Given the description of an element on the screen output the (x, y) to click on. 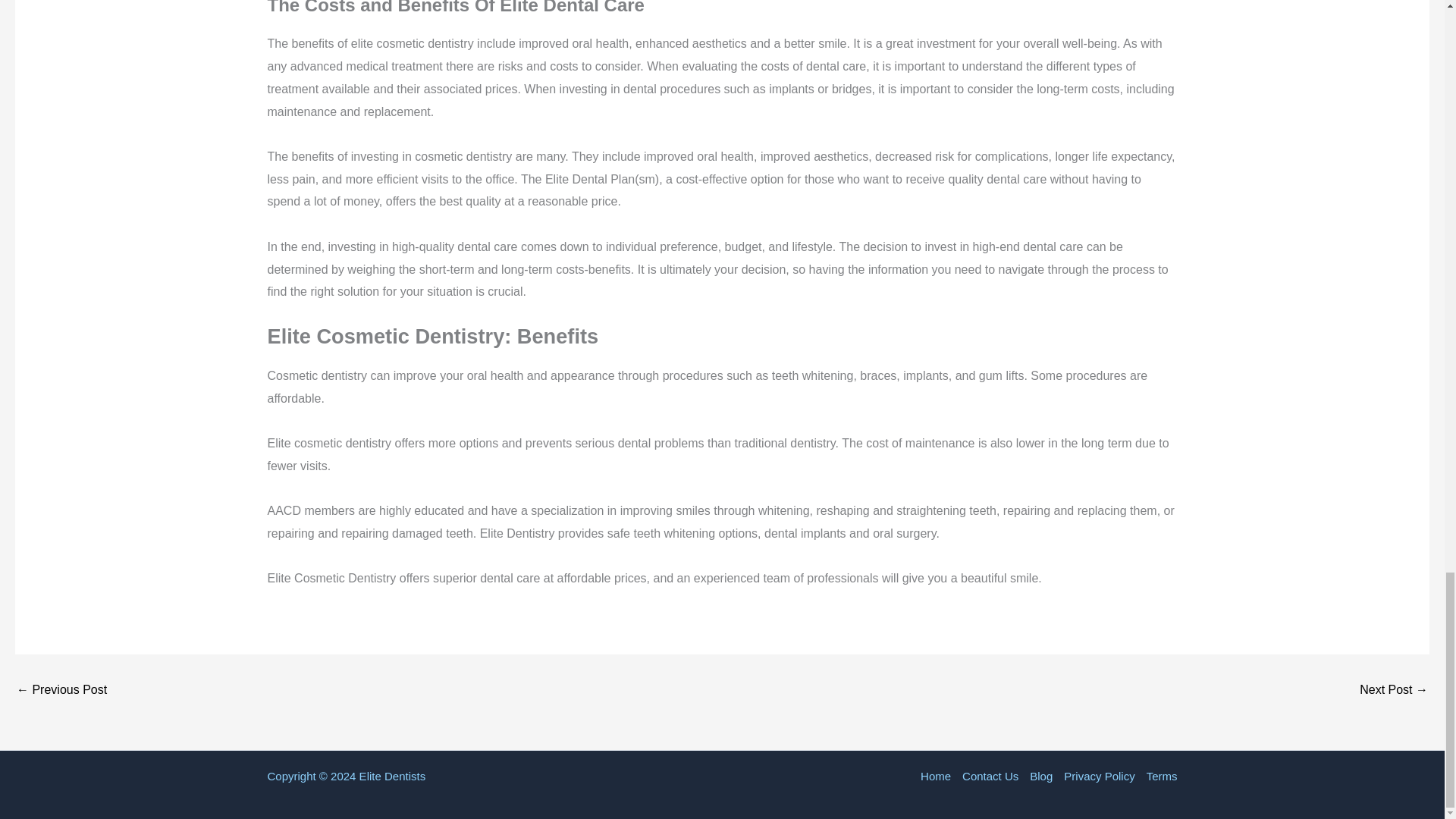
Contact Us (990, 776)
Terms (1158, 776)
Home (938, 776)
Privacy Policy (1099, 776)
Elite Cosmetic Dentistry Services (61, 689)
Blog (1041, 776)
